Given the description of an element on the screen output the (x, y) to click on. 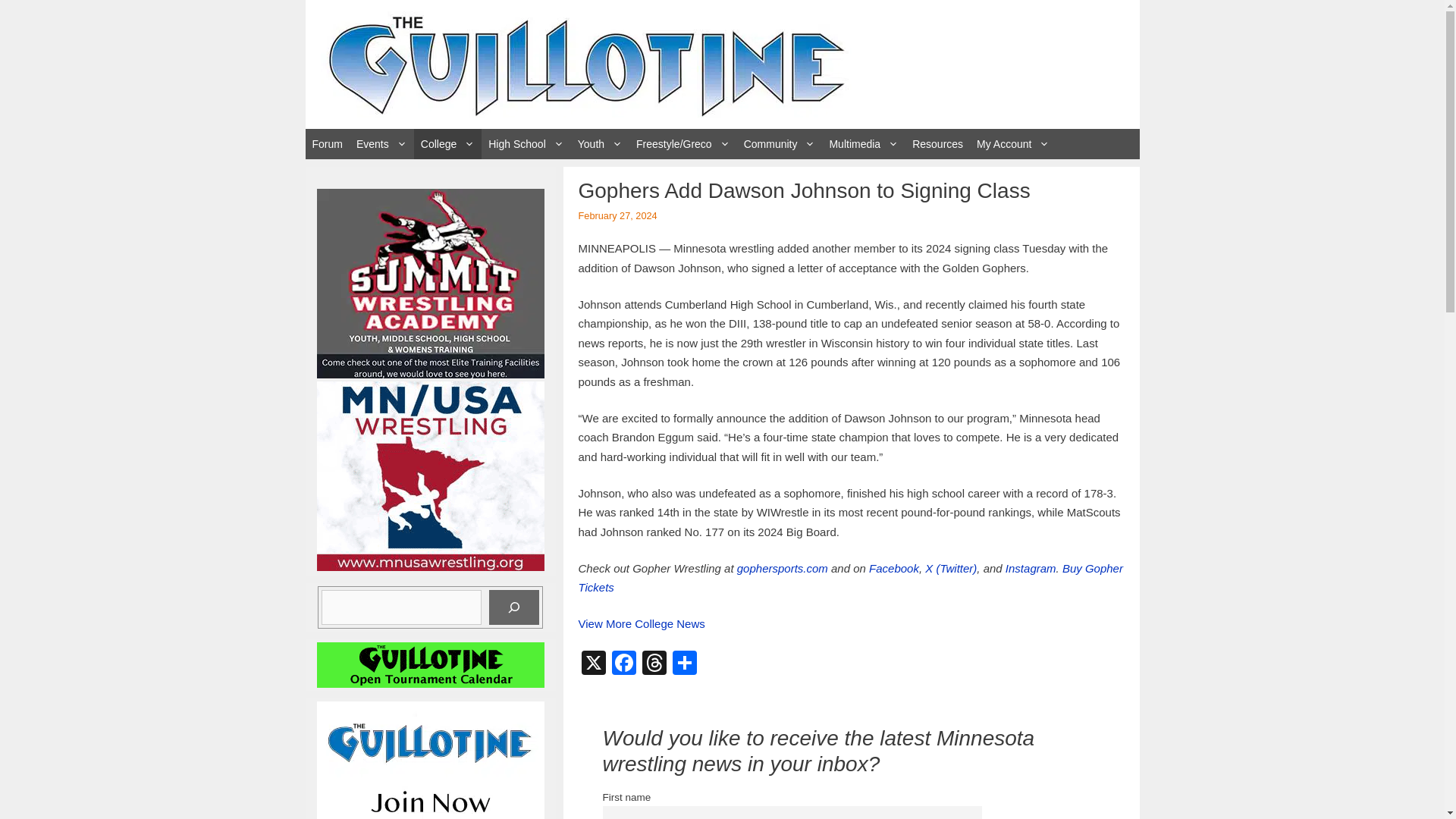
Events (381, 143)
The Guillotine Events Calendar (381, 143)
Forum (326, 143)
High School (525, 143)
College (447, 143)
College News (447, 143)
